Given the description of an element on the screen output the (x, y) to click on. 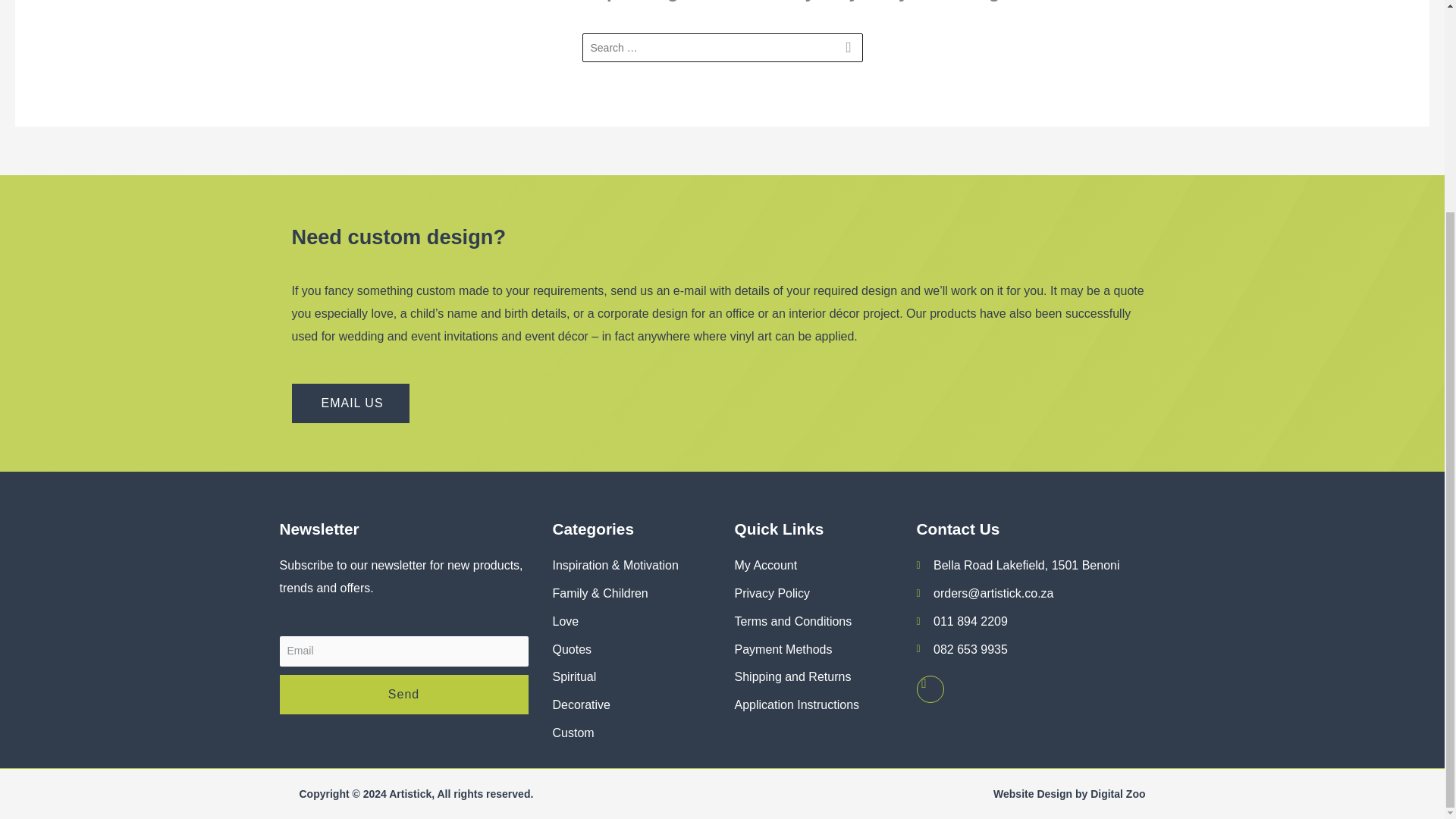
Love (630, 621)
Quotes (630, 649)
My Account (812, 565)
EMAIL US (350, 403)
Privacy Policy (812, 593)
Spiritual (630, 676)
Decorative (630, 704)
Send (403, 694)
